Given the description of an element on the screen output the (x, y) to click on. 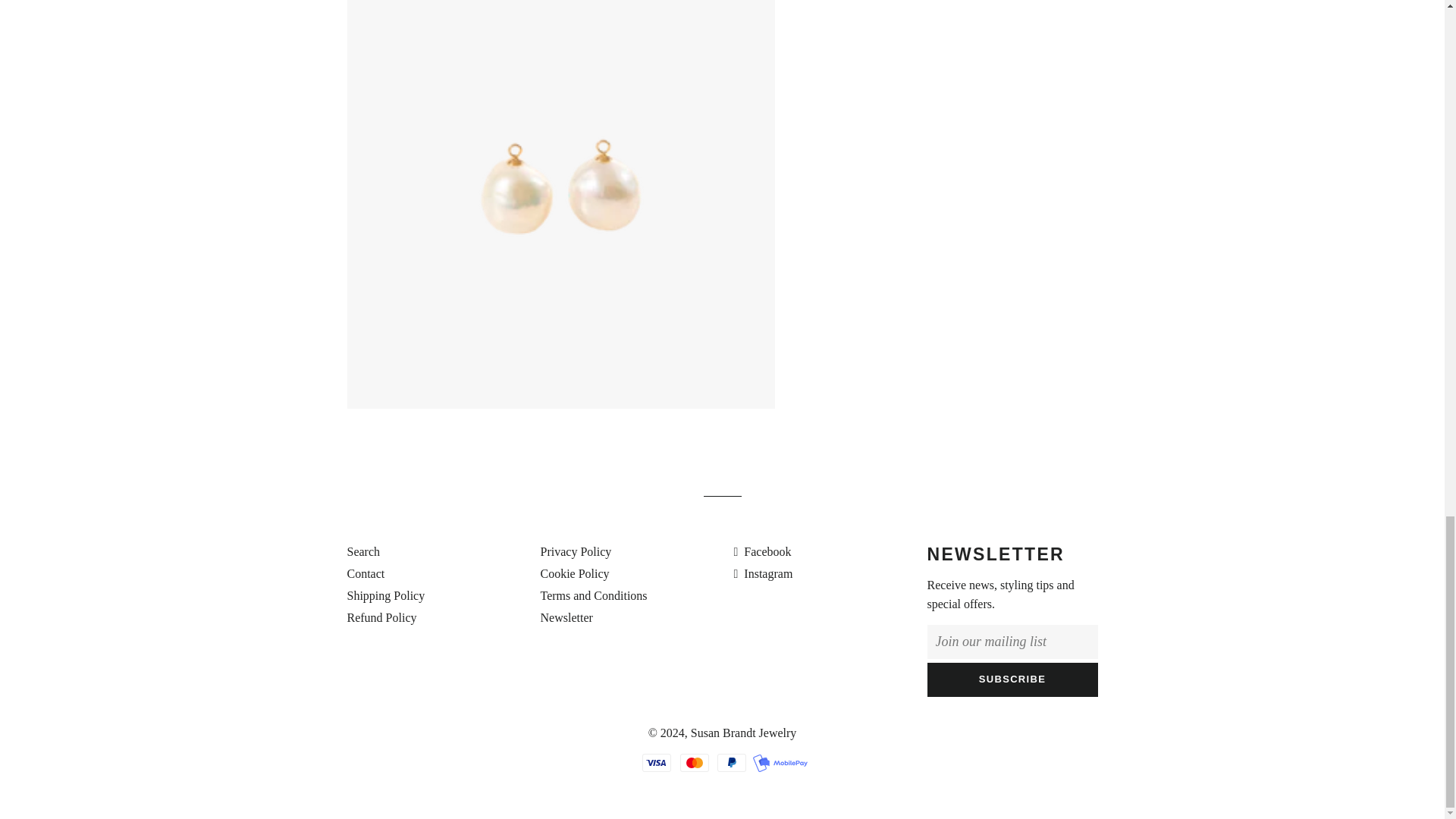
Susan Brandt Jewelry on Instagram (763, 573)
Mastercard (693, 762)
Susan Brandt Jewelry on Facebook (762, 551)
PayPal (731, 762)
Visa (656, 762)
